Given the description of an element on the screen output the (x, y) to click on. 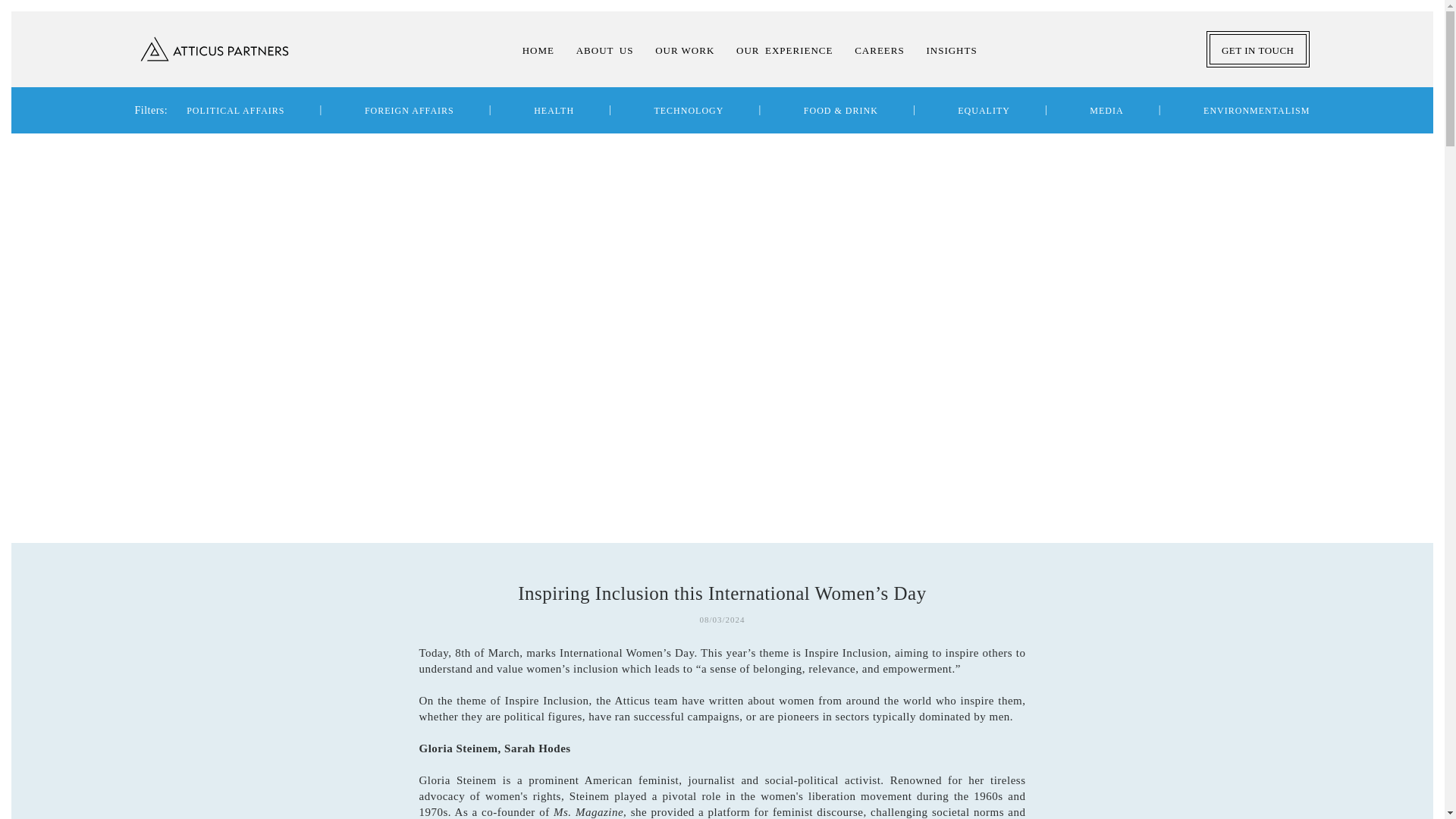
HOME (538, 53)
FOREIGN AFFAIRS (409, 110)
TECHNOLOGY (688, 110)
HEALTH (553, 110)
EQUALITY (984, 110)
POLITICAL AFFAIRS (234, 110)
CAREERS (879, 50)
INSIGHTS (951, 50)
GET IN TOUCH (1257, 49)
